Given the description of an element on the screen output the (x, y) to click on. 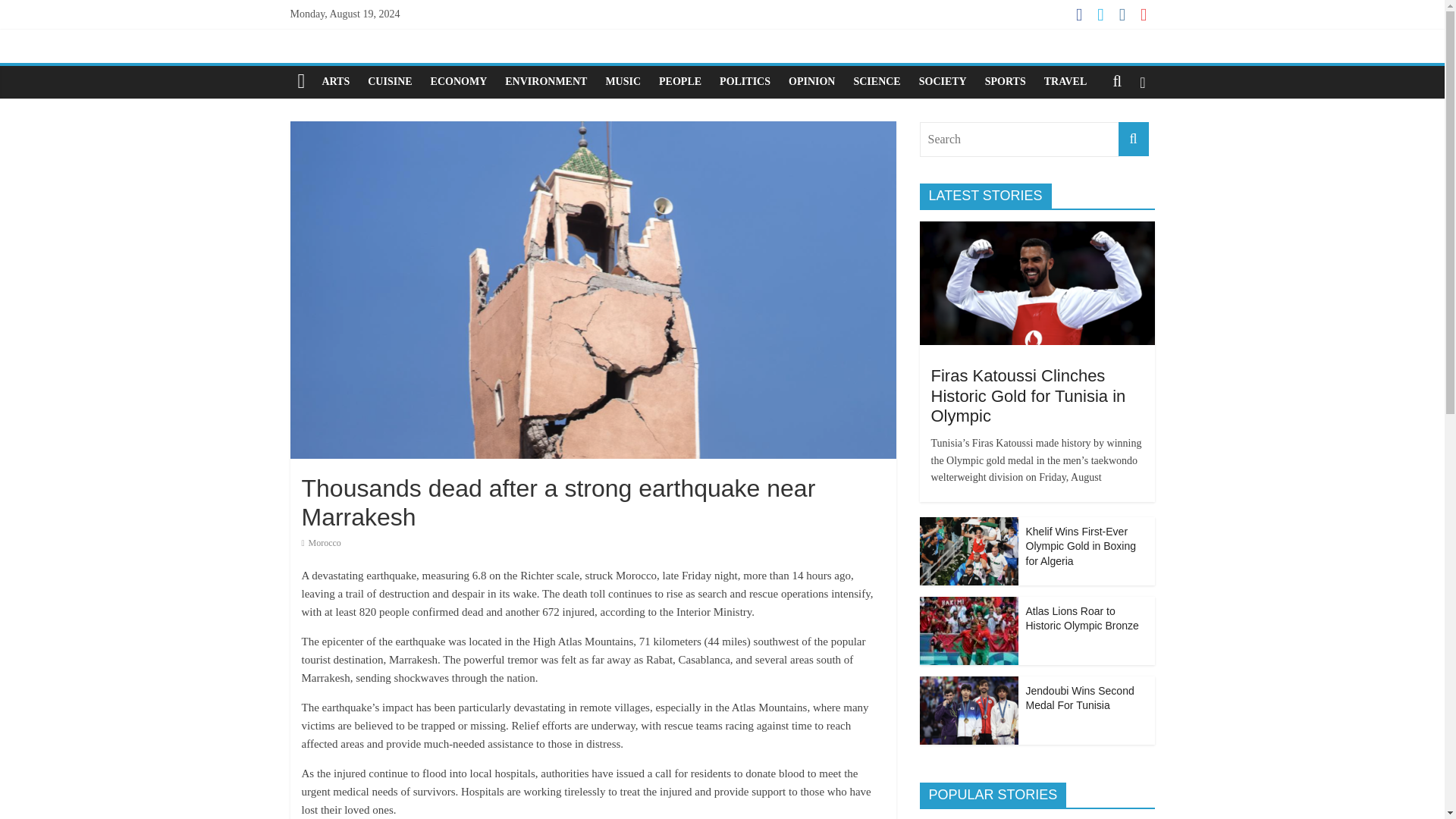
ENVIRONMENT (545, 81)
SOCIETY (942, 81)
TRAVEL (1065, 81)
SCIENCE (876, 81)
POLITICS (744, 81)
Morocco (324, 542)
MUSIC (622, 81)
OPINION (811, 81)
ECONOMY (459, 81)
PEOPLE (679, 81)
